Given the description of an element on the screen output the (x, y) to click on. 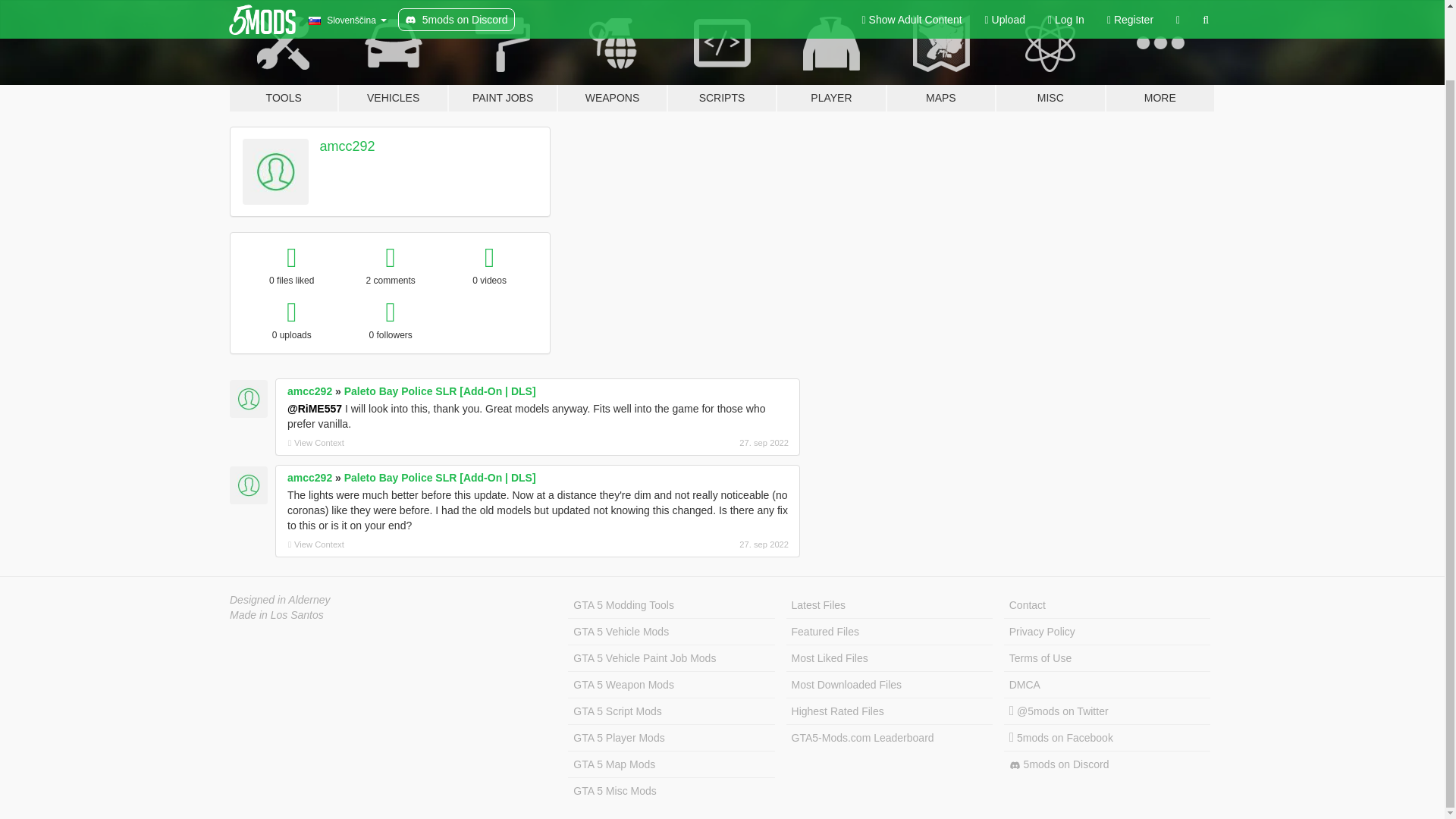
5mods on Facebook (1106, 737)
torek, 27 sep 2022 ob 04:06:01 (708, 544)
5mods on Discord (1106, 764)
torek, 27 sep 2022 ob 11:30:05 (708, 442)
